Given the description of an element on the screen output the (x, y) to click on. 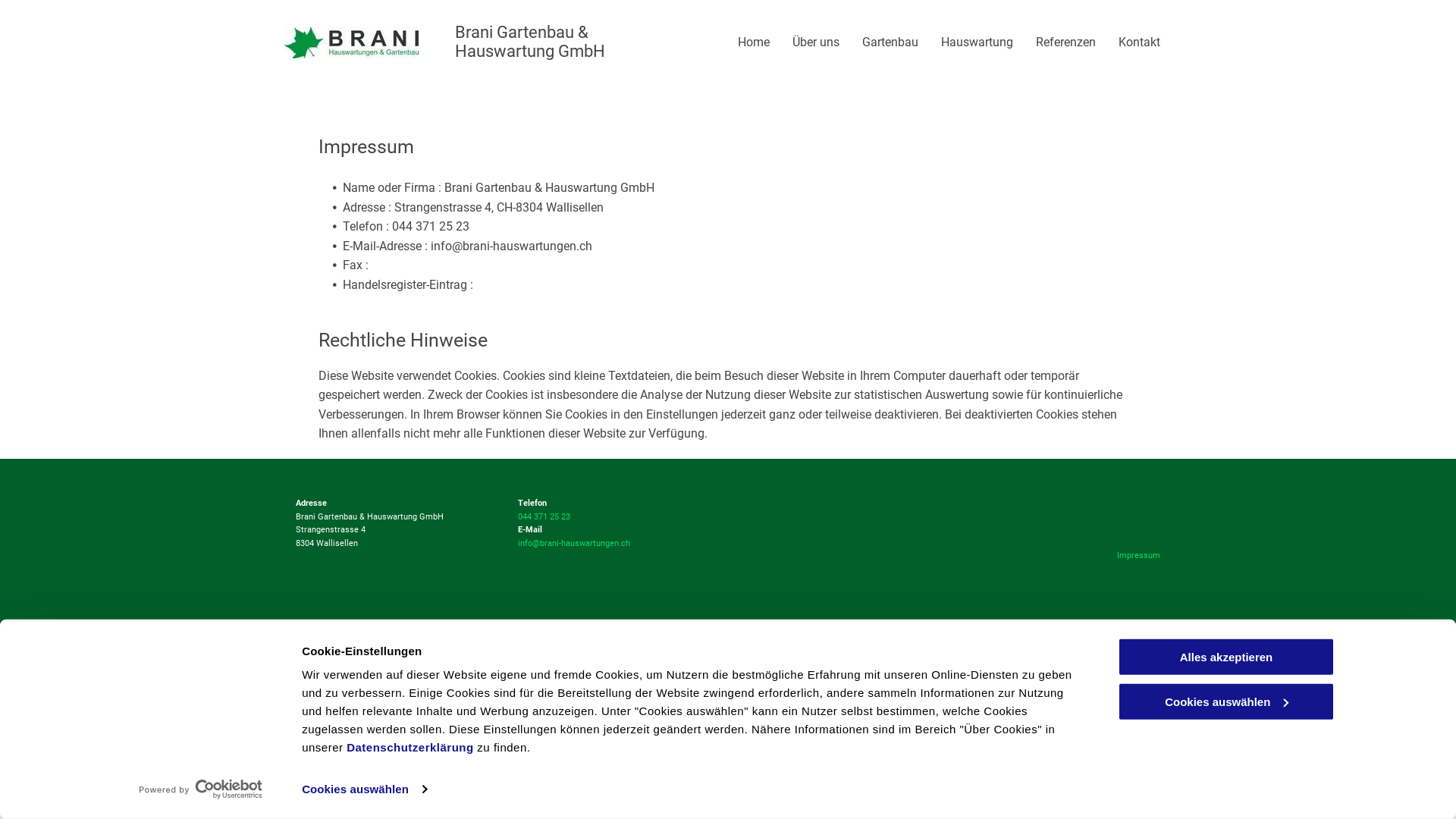
Brani Gartenbau & Hauswartung GmbH Element type: text (530, 41)
Referenzen Element type: text (1065, 42)
Impressum Element type: text (1138, 555)
044 371 25 23 Element type: text (543, 516)
Home Element type: text (753, 42)
Hauswartung Element type: text (977, 42)
Gartenbau Element type: text (890, 42)
info@brani-hauswartungen.ch Element type: text (573, 543)
Alles akzeptieren Element type: text (1225, 656)
Kontakt Element type: text (1139, 42)
